Given the description of an element on the screen output the (x, y) to click on. 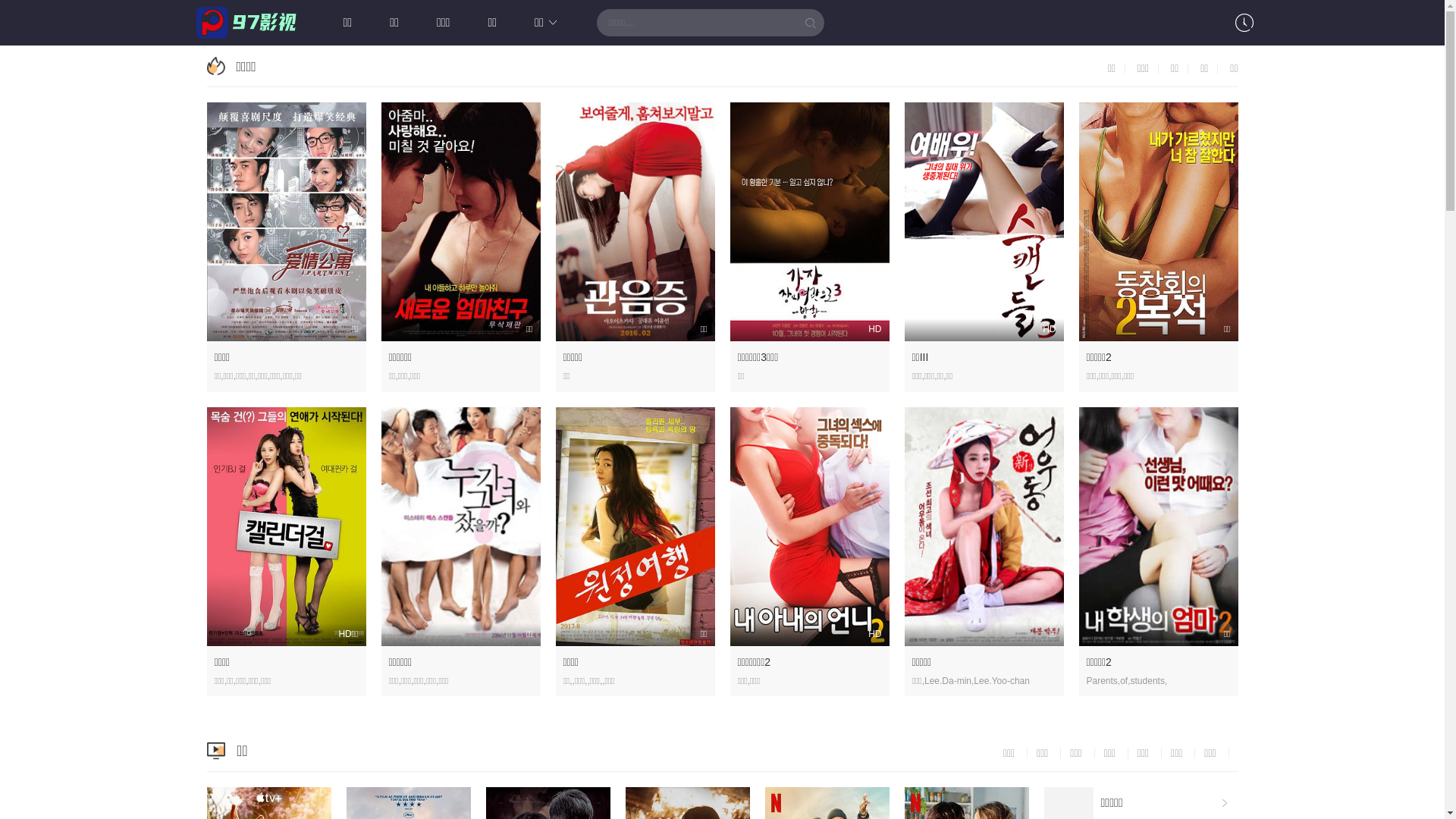
HD Element type: text (808, 526)
HD Element type: text (808, 221)
HD Element type: text (983, 221)
